Given the description of an element on the screen output the (x, y) to click on. 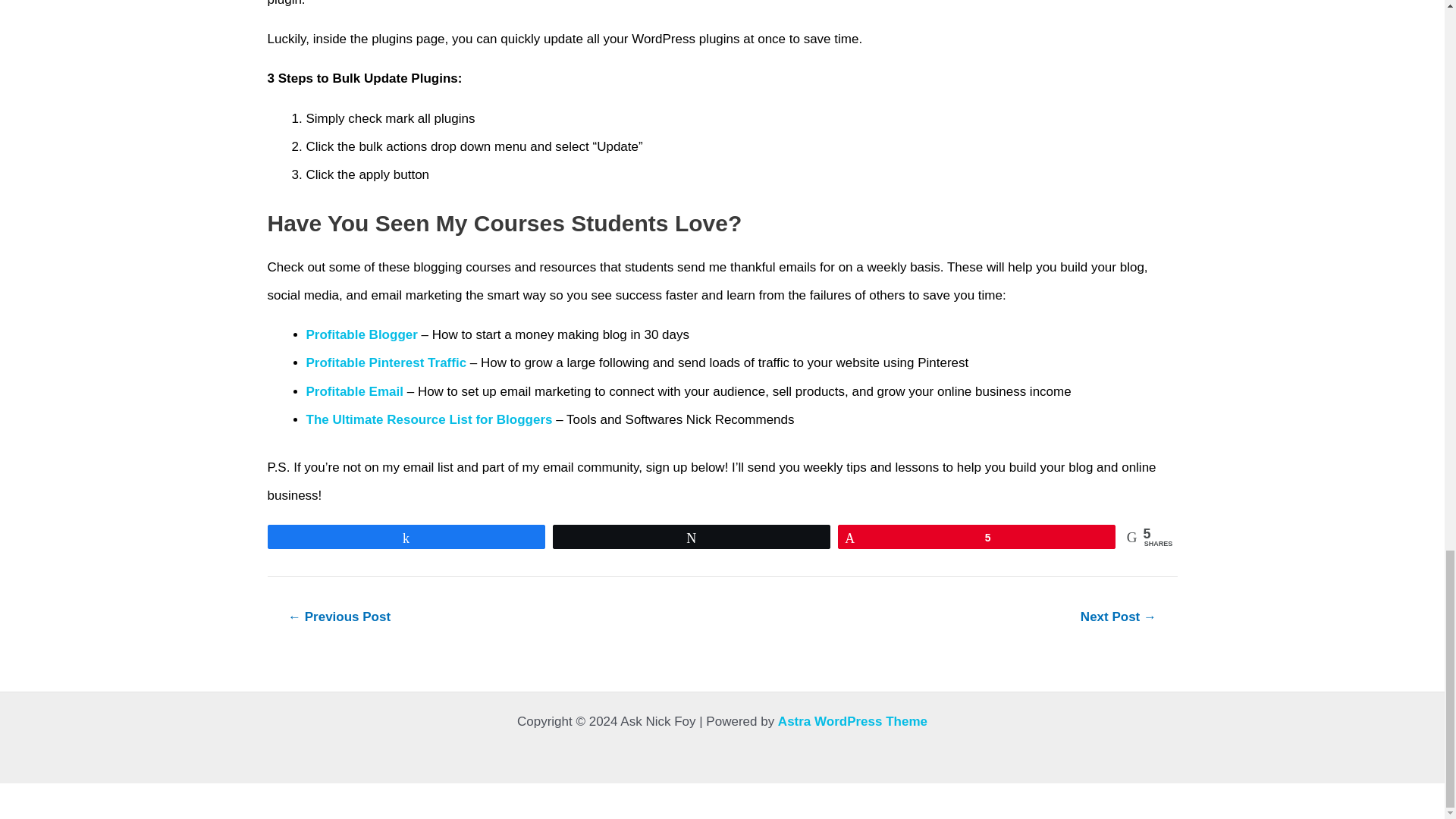
The Ultimate Resource List for Bloggers (429, 419)
Astra WordPress Theme (852, 721)
How to Be Successful on Pinterest (338, 616)
5 WordPress Plugins Every Blogger Needs (1117, 616)
5 (976, 536)
Profitable Blogger (361, 334)
Profitable Email (354, 391)
Profitable Pinterest Traffic (386, 362)
